Given the description of an element on the screen output the (x, y) to click on. 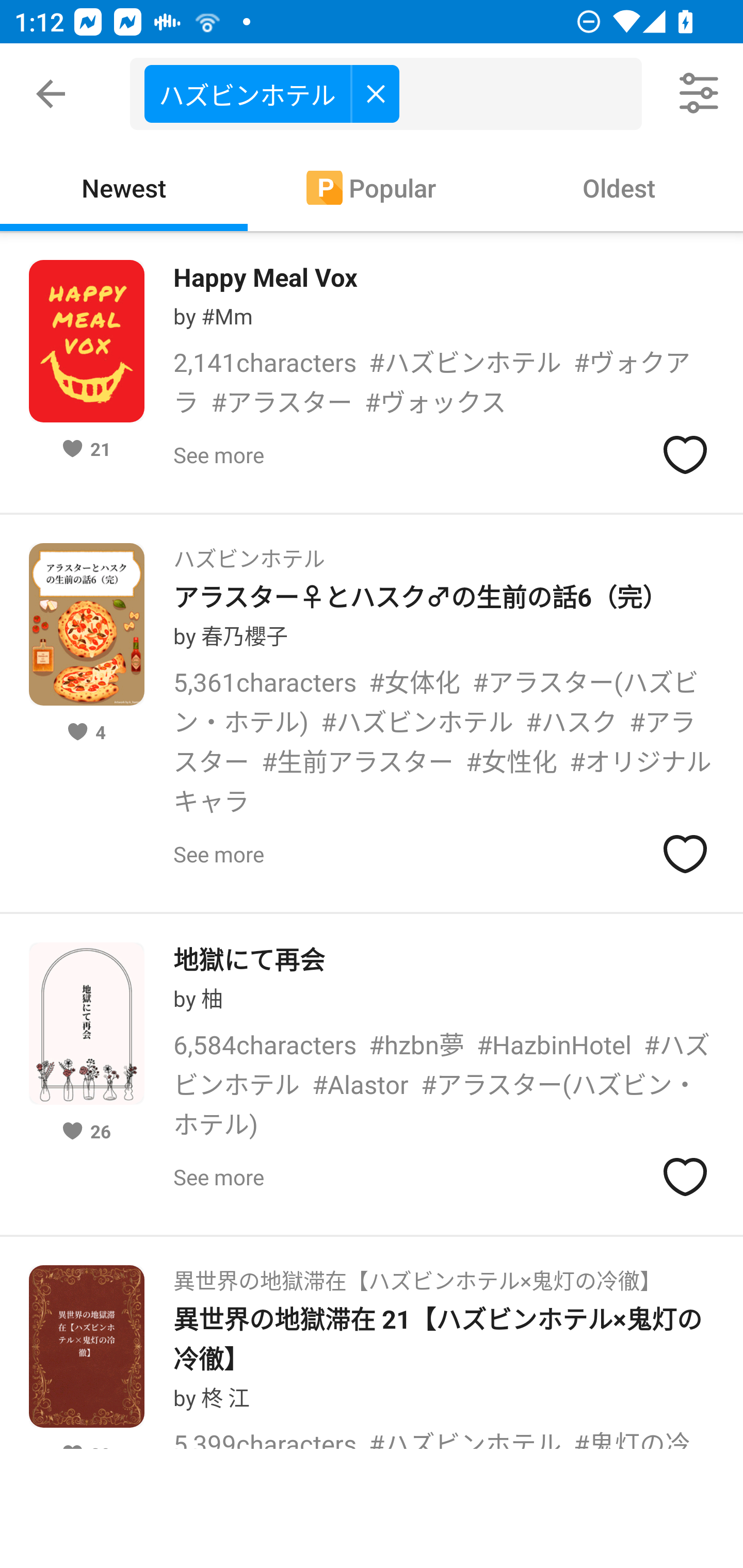
Navigate up (50, 93)
Filters (699, 93)
ハズビンホテル (271, 93)
[P] Popular (371, 187)
Oldest (619, 187)
ハズビンホテル (248, 552)
異世界の地獄滞在【ハズビンホテル×鬼灯の冷徹】 (417, 1274)
